Given the description of an element on the screen output the (x, y) to click on. 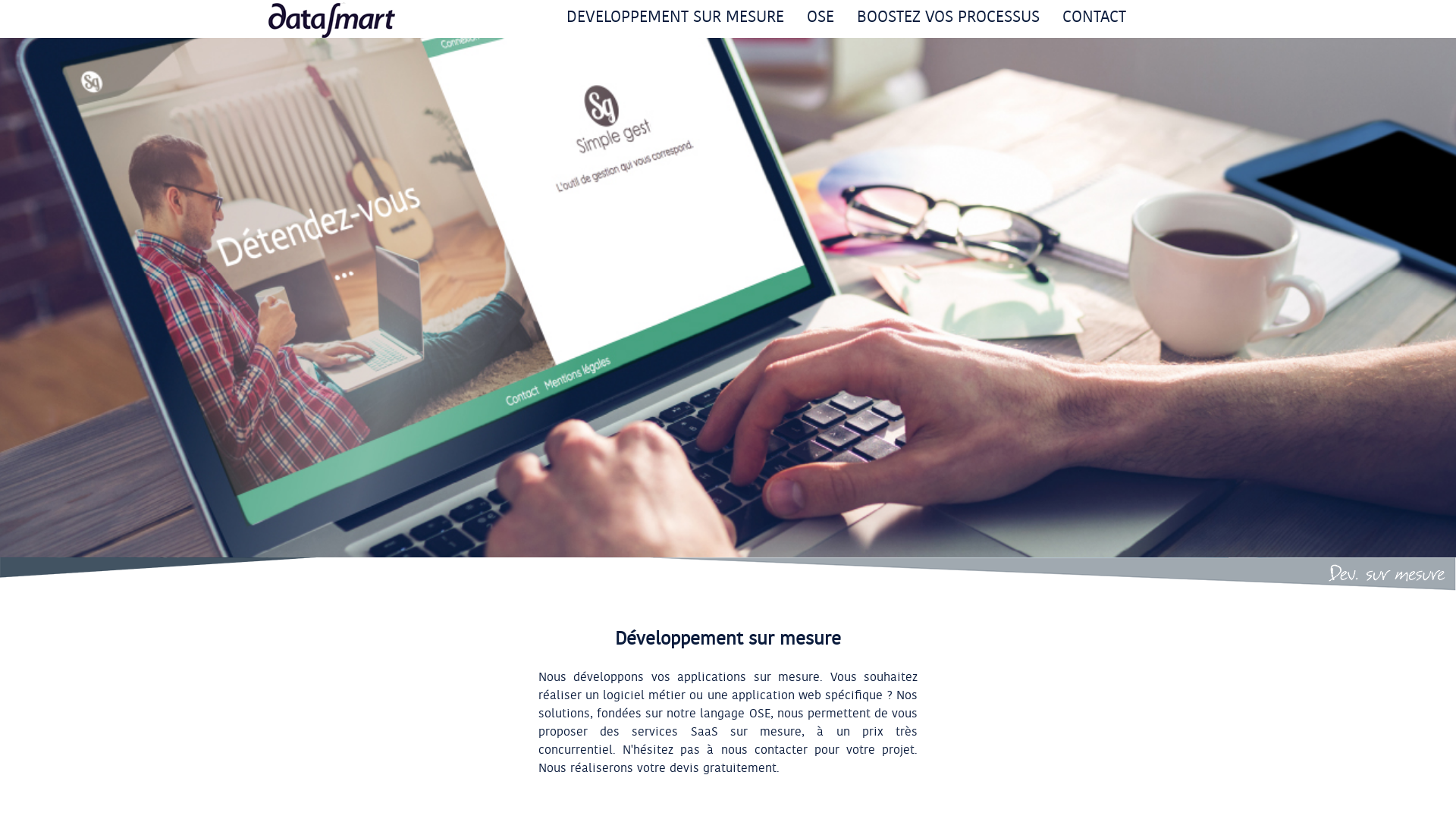
DEVELOPPEMENT SUR MESURE Element type: text (675, 17)
CONTACT Element type: text (1094, 17)
OSE Element type: text (820, 17)
BOOSTEZ VOS PROCESSUS Element type: text (947, 17)
